Given the description of an element on the screen output the (x, y) to click on. 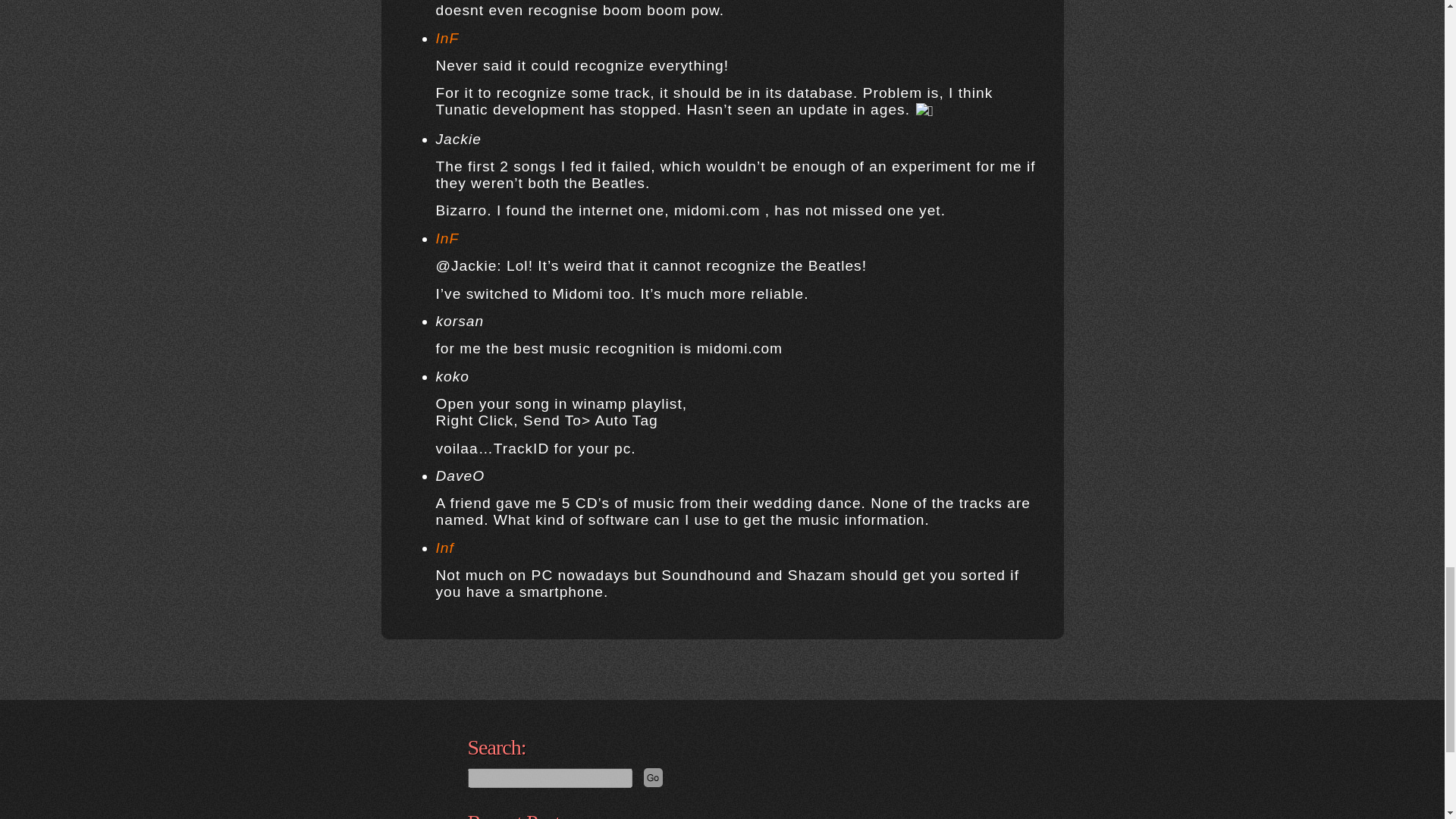
Inf (443, 547)
InF (446, 238)
InF (446, 37)
